Given the description of an element on the screen output the (x, y) to click on. 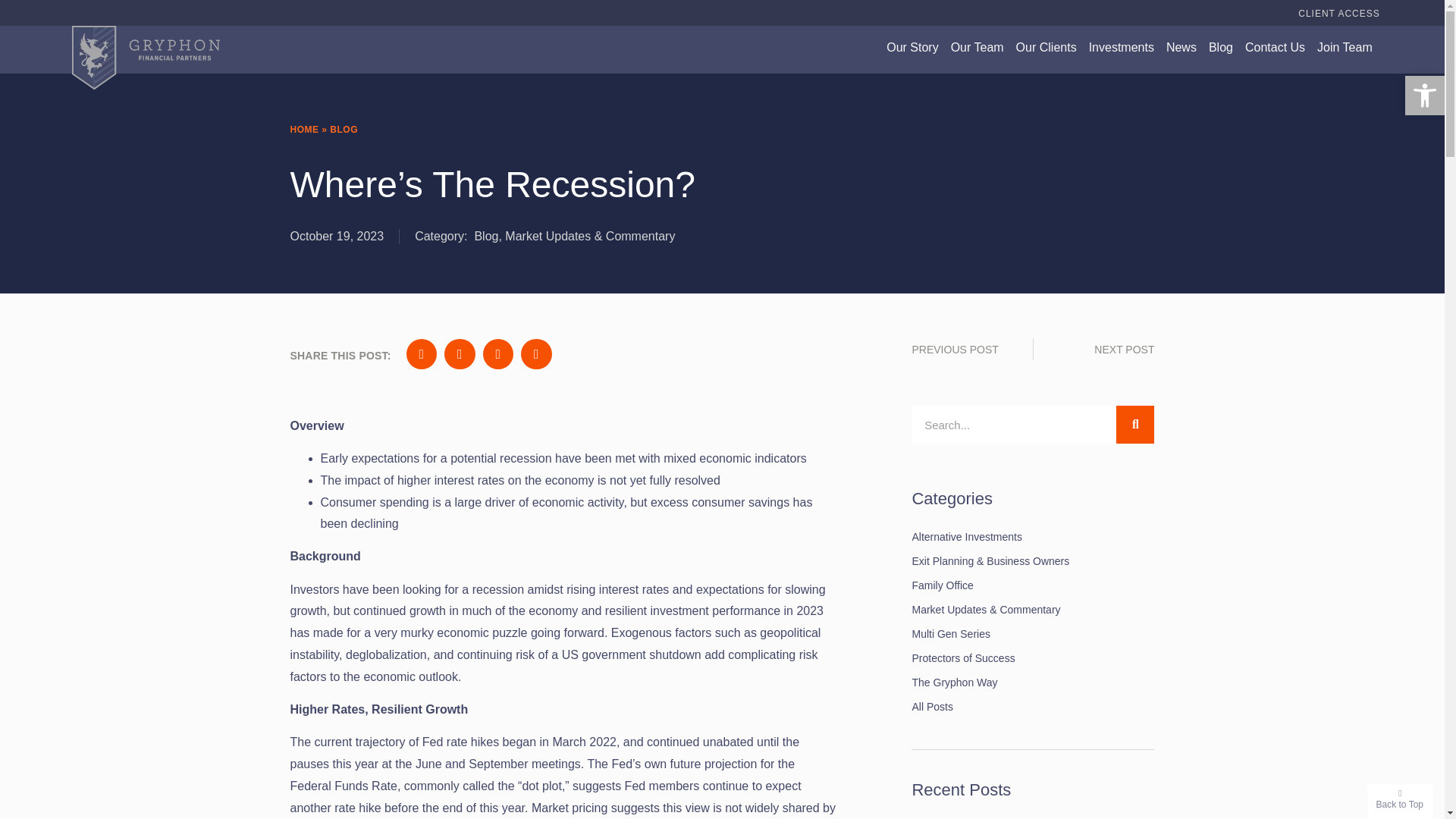
Investments (1121, 47)
Join Team (1345, 47)
CLIENT ACCESS (1338, 13)
Our Story (911, 47)
Our Team (977, 47)
Our Clients (1046, 47)
Contact Us (1274, 47)
Accessibility Tools (1424, 95)
